Given the description of an element on the screen output the (x, y) to click on. 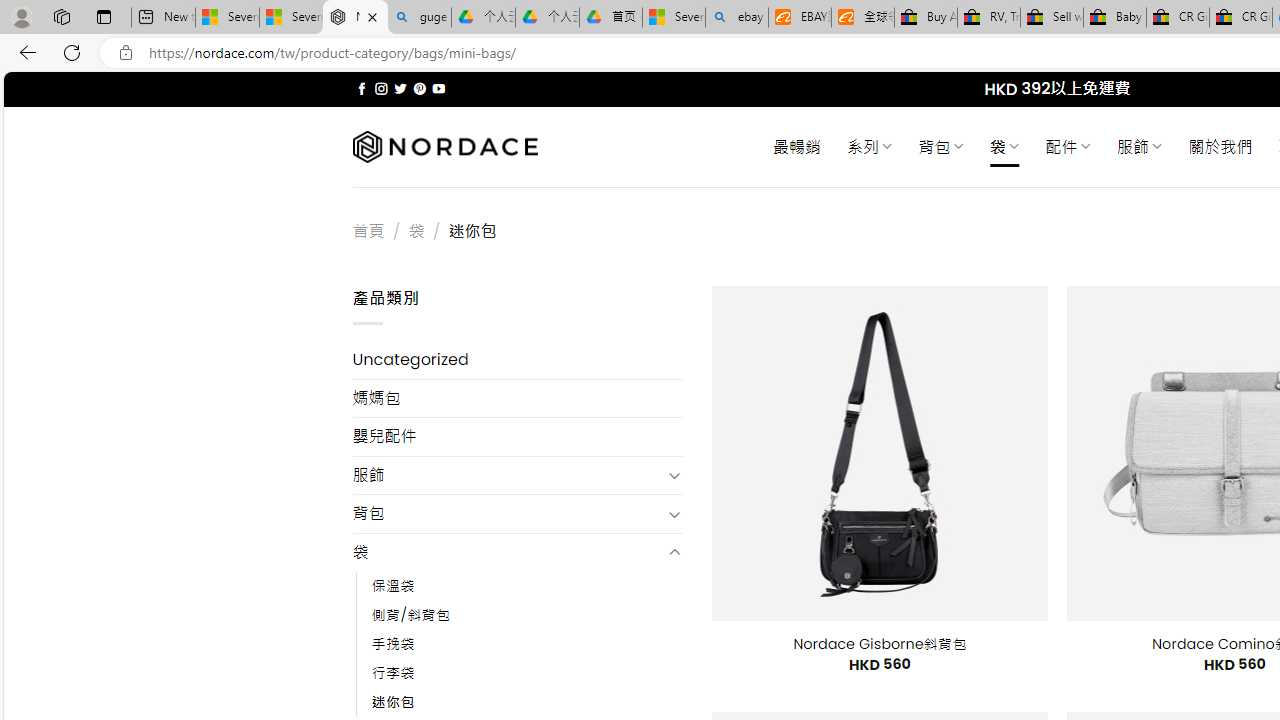
Baby Keepsakes & Announcements for sale | eBay (1114, 17)
Follow on Instagram (381, 88)
Follow on YouTube (438, 88)
RV, Trailer & Camper Steps & Ladders for sale | eBay (988, 17)
